Given the description of an element on the screen output the (x, y) to click on. 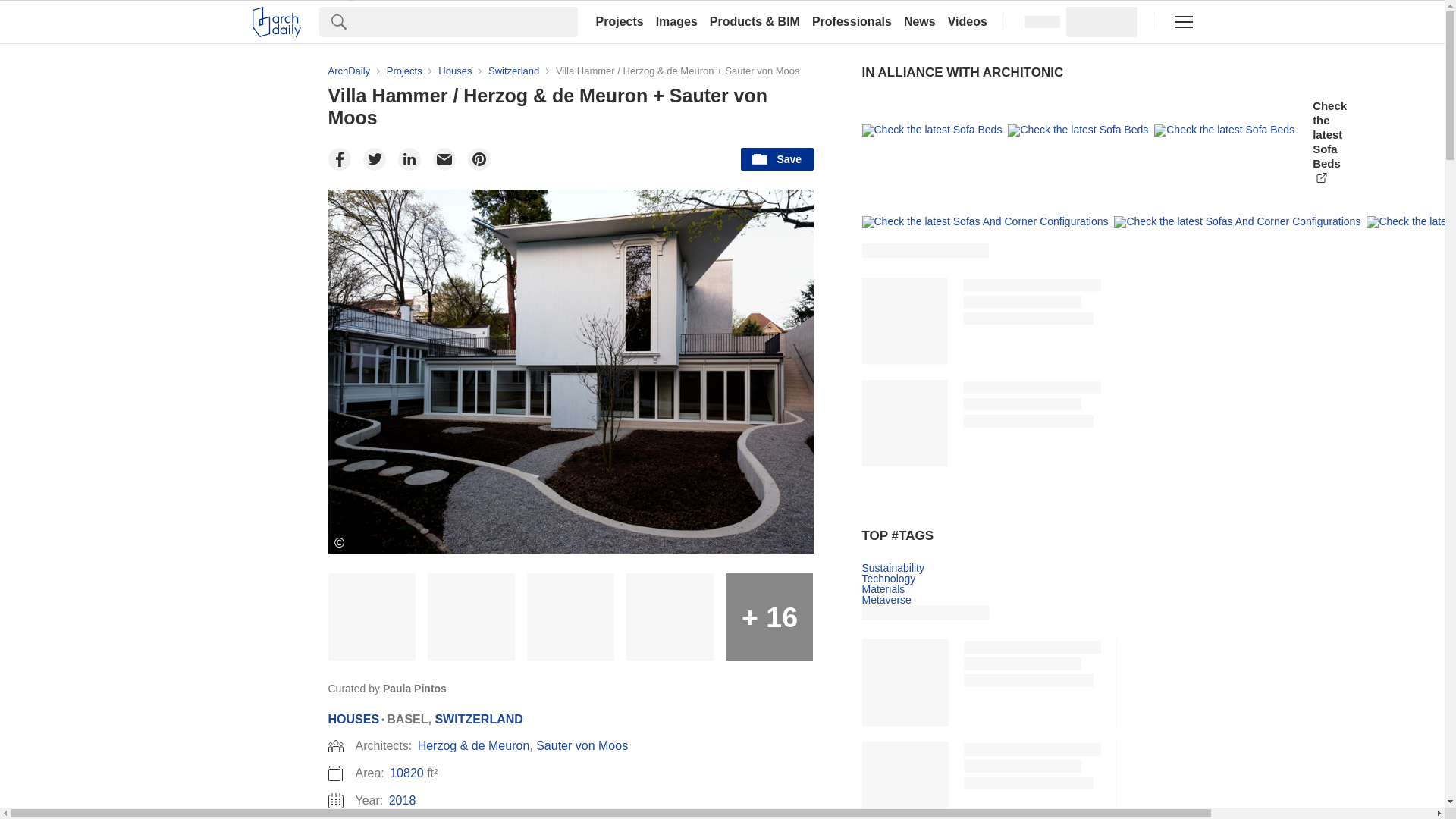
Projects (619, 21)
Images (676, 21)
Professionals (852, 21)
News (920, 21)
Videos (967, 21)
